Given the description of an element on the screen output the (x, y) to click on. 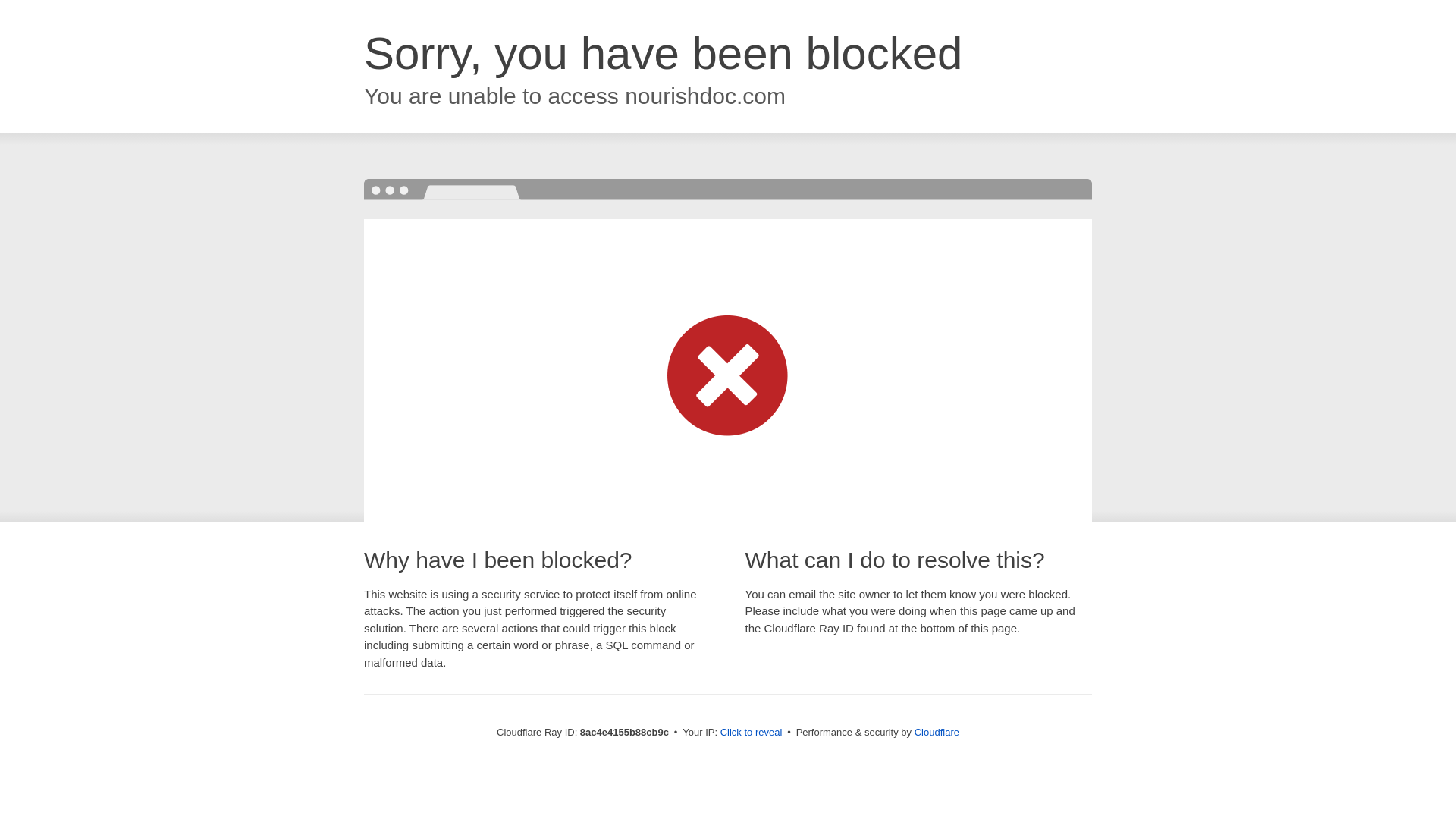
Click to reveal (751, 732)
Cloudflare (936, 731)
